Given the description of an element on the screen output the (x, y) to click on. 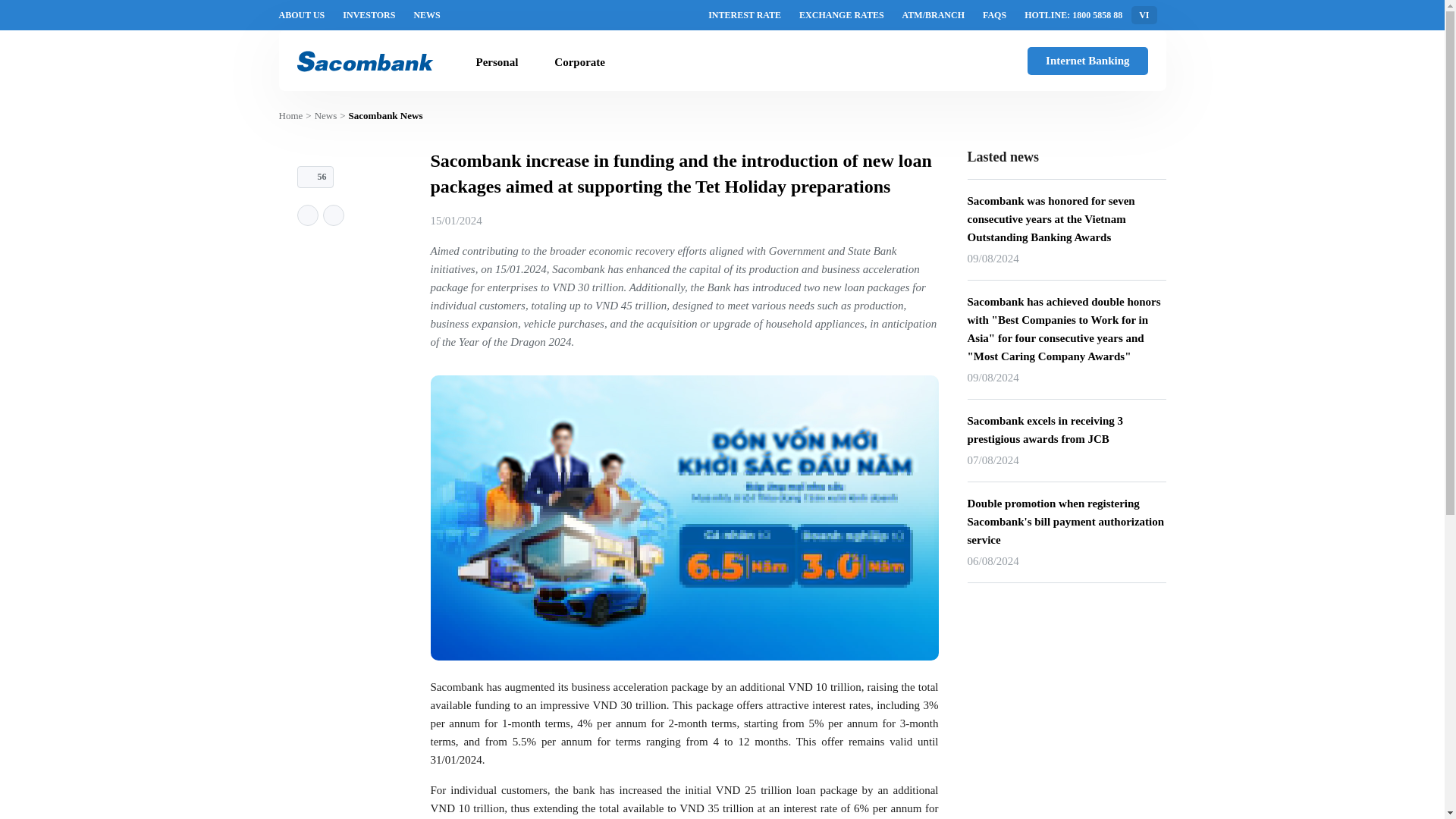
EXCHANGE RATES (841, 15)
Internet Banking (1087, 60)
HOTLINE: 1800 5858 88 (1073, 15)
INTEREST RATE (743, 15)
NEWS (426, 15)
Corporate (579, 61)
Personal (497, 61)
ABOUT US (301, 15)
FAQS (994, 15)
INVESTORS (368, 15)
